Given the description of an element on the screen output the (x, y) to click on. 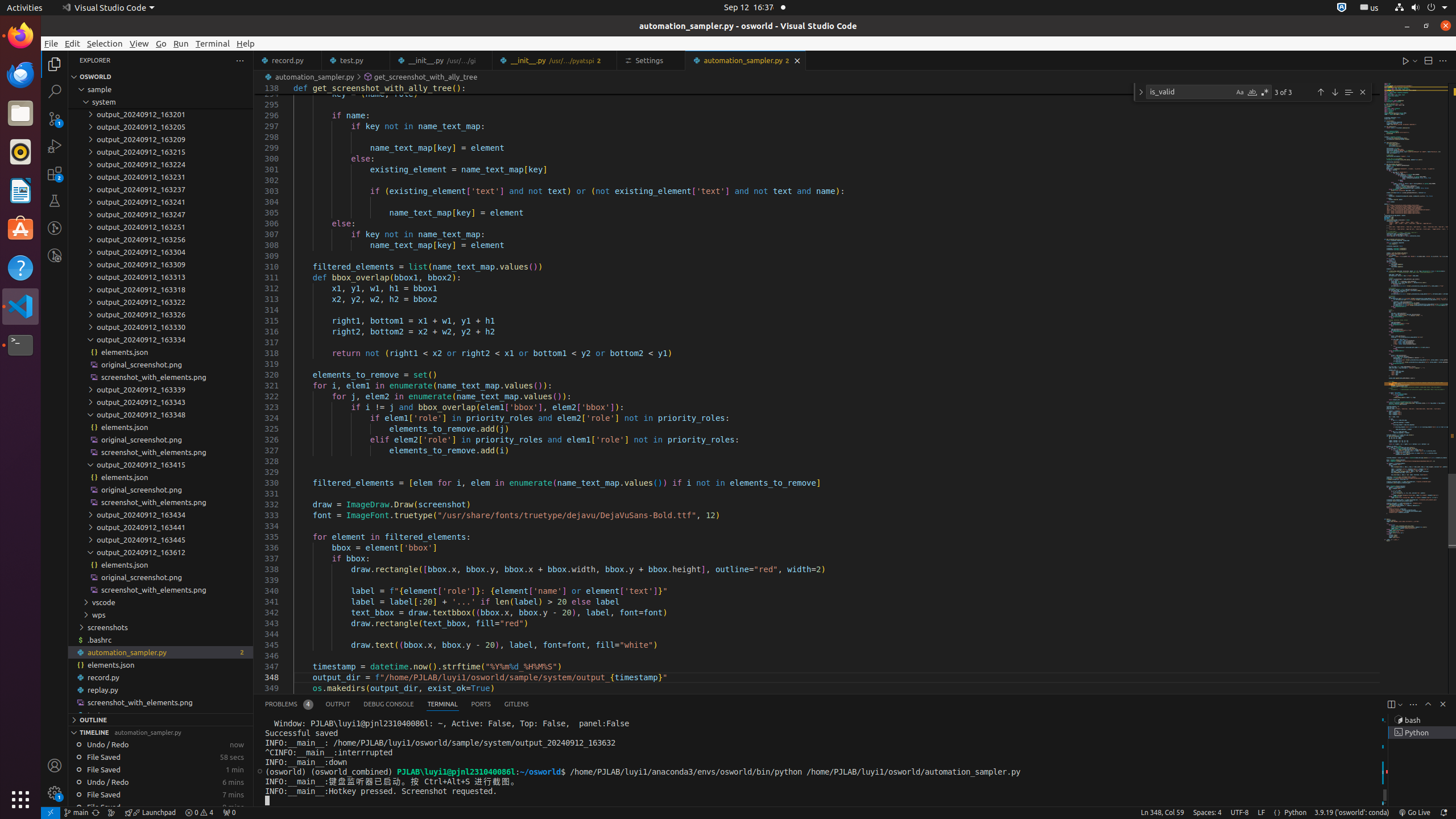
No Ports Forwarded Element type: push-button (228, 812)
Terminal 5 Python Element type: list-item (1422, 732)
Timeline Section Element type: push-button (160, 731)
Explorer (Ctrl+Shift+E) Element type: page-tab (54, 63)
New Terminal (Ctrl+Shift+`) [Alt] Split Terminal (Ctrl+Shift+5) Element type: push-button (1390, 703)
